Given the description of an element on the screen output the (x, y) to click on. 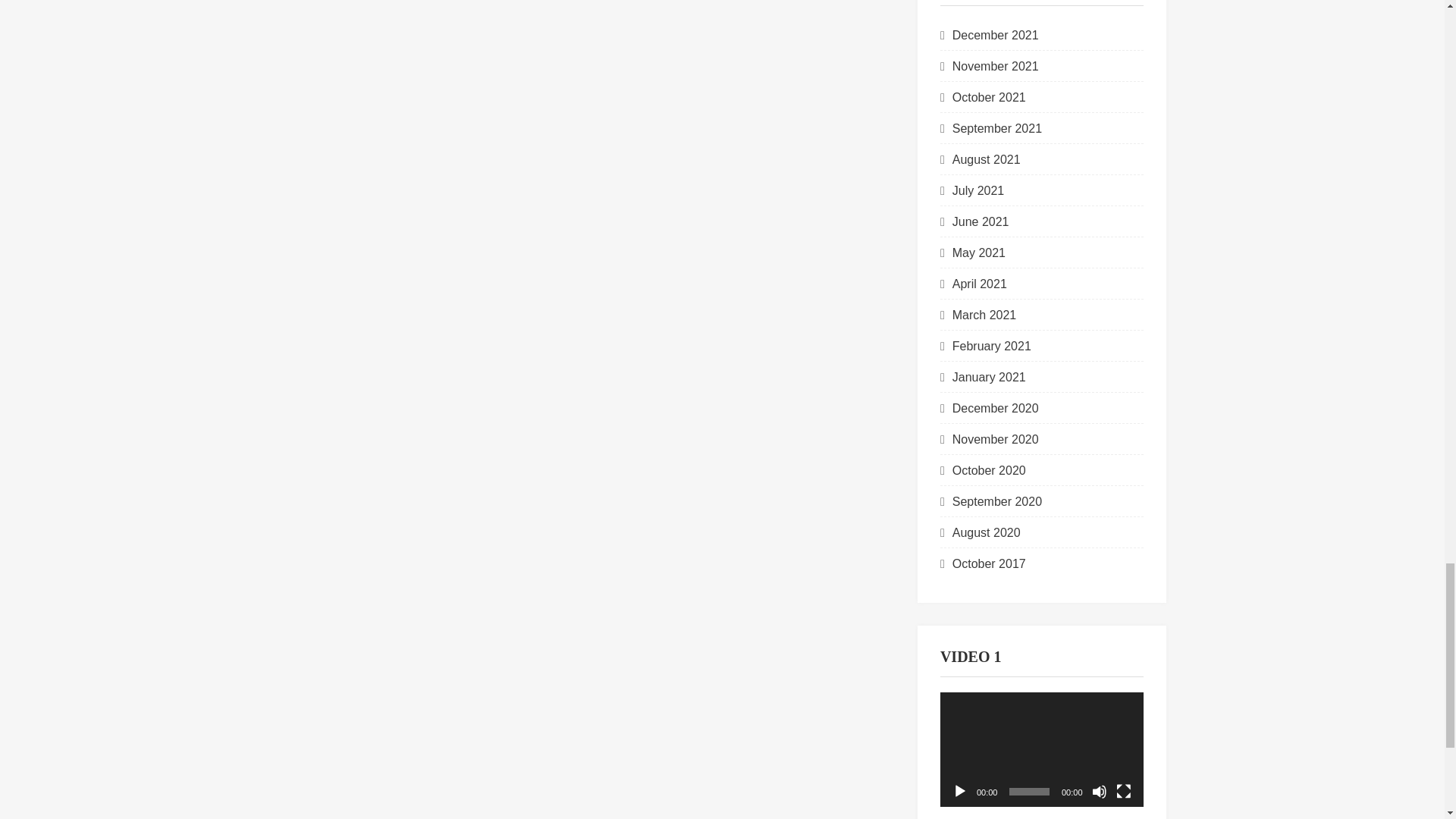
Mute (1099, 791)
Play (960, 791)
Fullscreen (1123, 791)
